Given the description of an element on the screen output the (x, y) to click on. 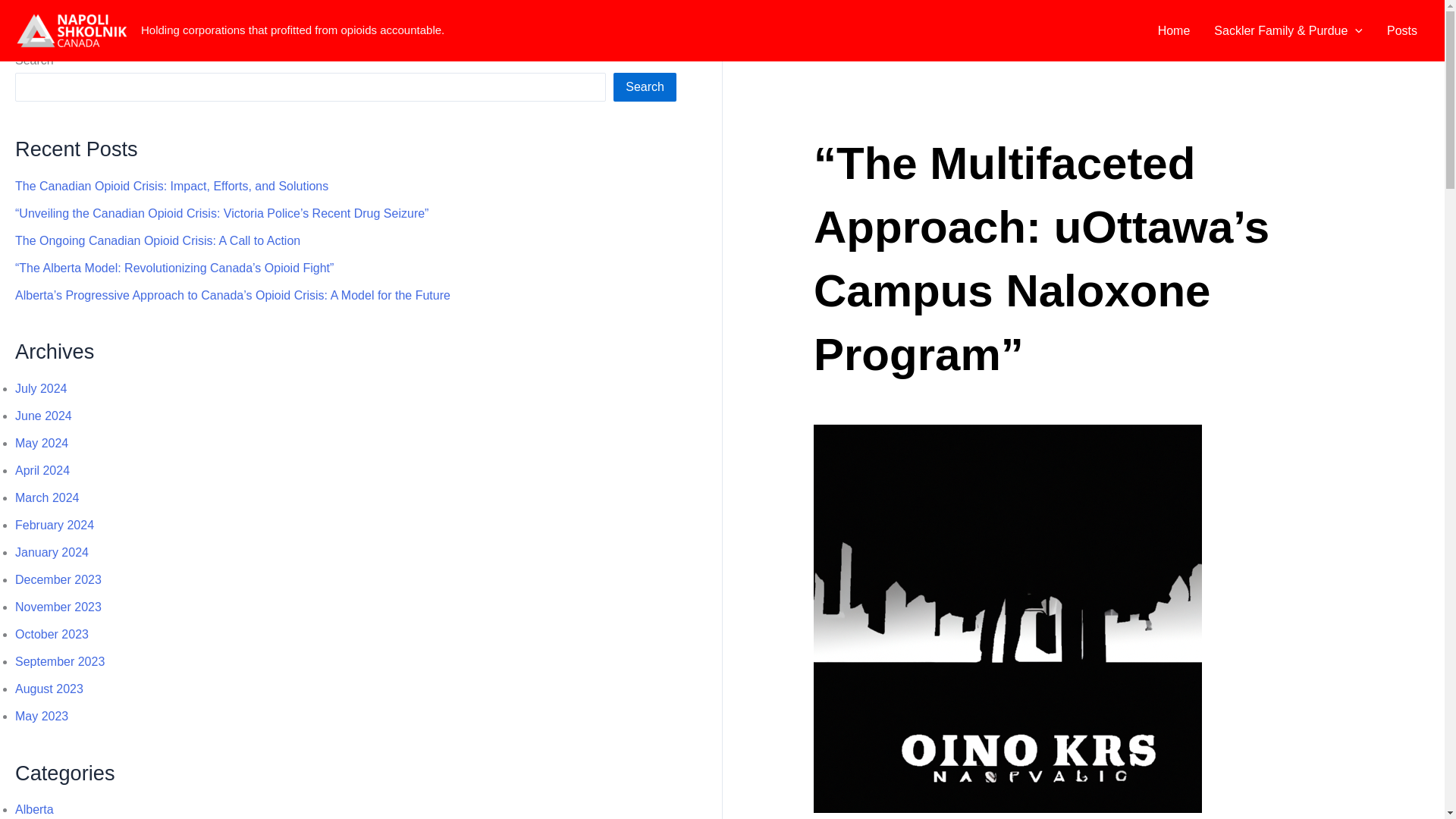
July 2024 (40, 388)
November 2023 (57, 606)
September 2023 (59, 661)
Alberta (33, 809)
December 2023 (57, 579)
March 2024 (47, 497)
The Ongoing Canadian Opioid Crisis: A Call to Action (156, 240)
February 2024 (54, 524)
August 2023 (48, 688)
Search (644, 86)
January 2024 (51, 552)
Posts (1401, 30)
Home (1173, 30)
May 2024 (41, 442)
The Canadian Opioid Crisis: Impact, Efforts, and Solutions (171, 185)
